Given the description of an element on the screen output the (x, y) to click on. 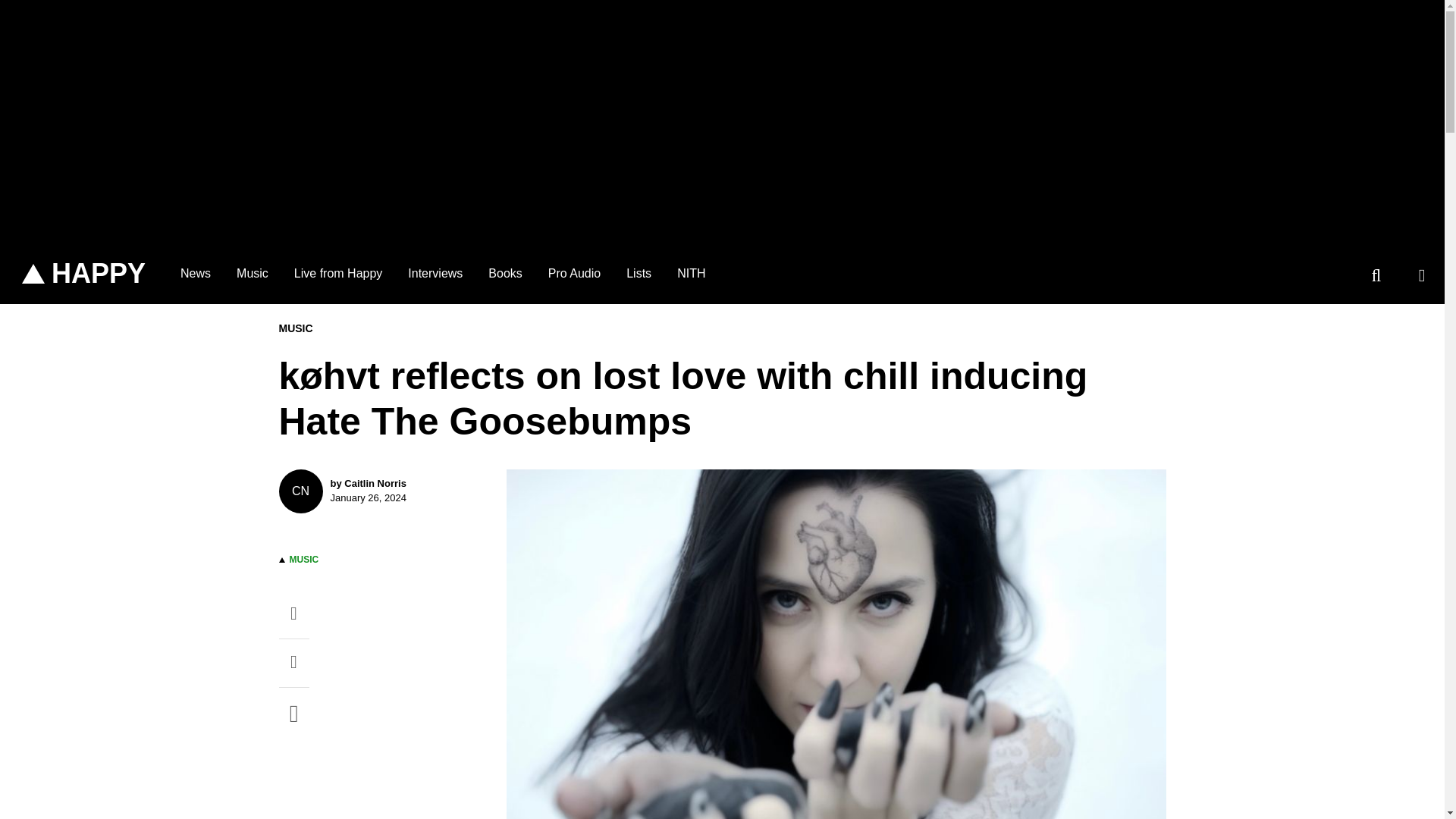
Pro Audio (573, 273)
Interviews (435, 273)
Books (505, 273)
MUSIC (303, 559)
Music (252, 273)
Live from Happy (338, 273)
News (195, 273)
HAPPY (83, 273)
News (195, 273)
